Given the description of an element on the screen output the (x, y) to click on. 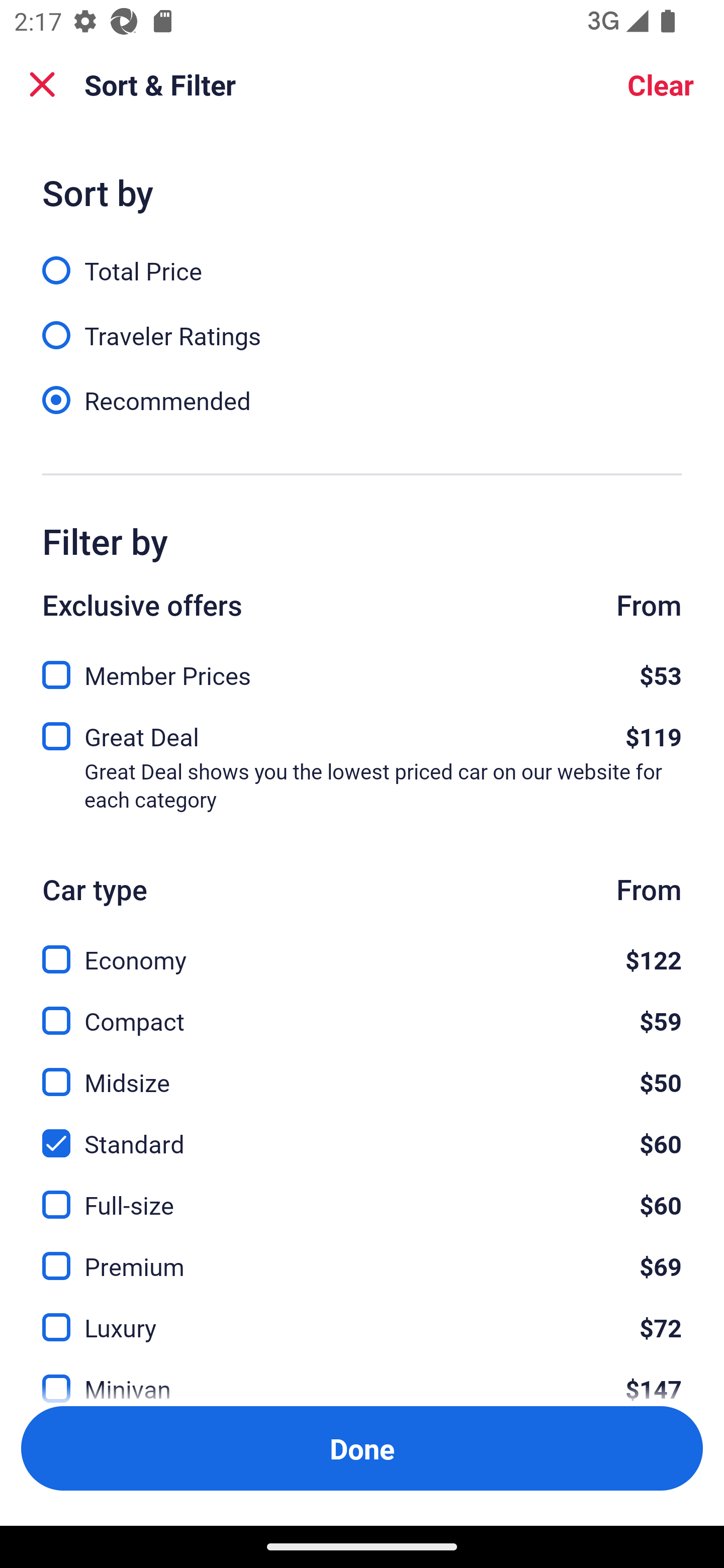
Close Sort and Filter (42, 84)
Clear (660, 84)
Total Price (361, 259)
Traveler Ratings (361, 324)
Member Prices, $53 Member Prices $53 (361, 669)
Economy, $122 Economy $122 (361, 947)
Compact, $59 Compact $59 (361, 1008)
Midsize, $50 Midsize $50 (361, 1070)
Standard, $60 Standard $60 (361, 1132)
Full-size, $60 Full-size $60 (361, 1193)
Premium, $69 Premium $69 (361, 1254)
Luxury, $72 Luxury $72 (361, 1315)
Minivan, $147 Minivan $147 (361, 1376)
Apply and close Sort and Filter Done (361, 1448)
